Given the description of an element on the screen output the (x, y) to click on. 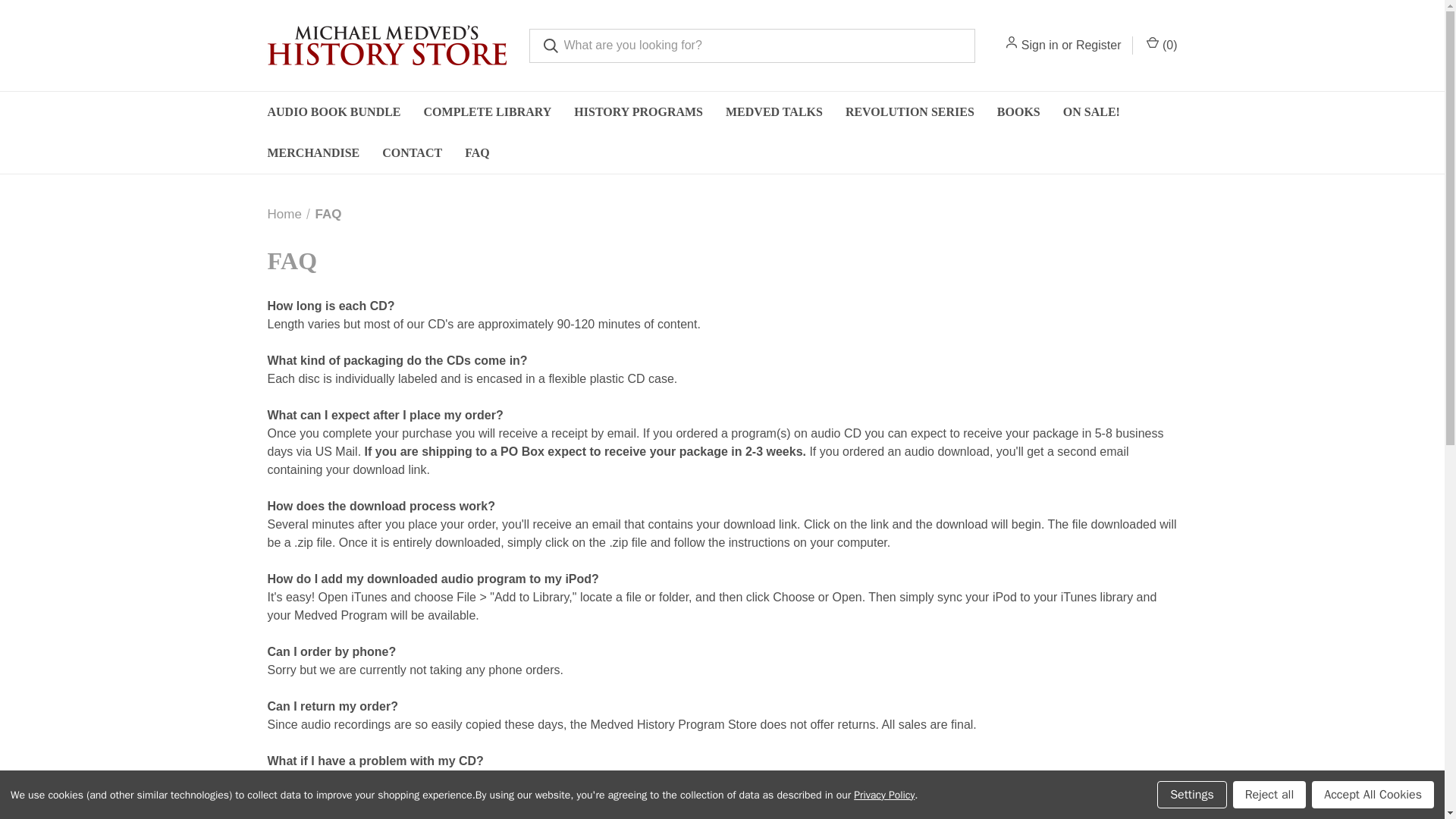
Home (283, 214)
REVOLUTION SERIES (909, 111)
ON SALE! (1091, 111)
COMPLETE LIBRARY (487, 111)
BOOKS (1018, 111)
MEDVED TALKS (774, 111)
CONTACT (411, 152)
FAQ (476, 152)
Register (1098, 45)
AUDIO BOOK BUNDLE (334, 111)
